Given the description of an element on the screen output the (x, y) to click on. 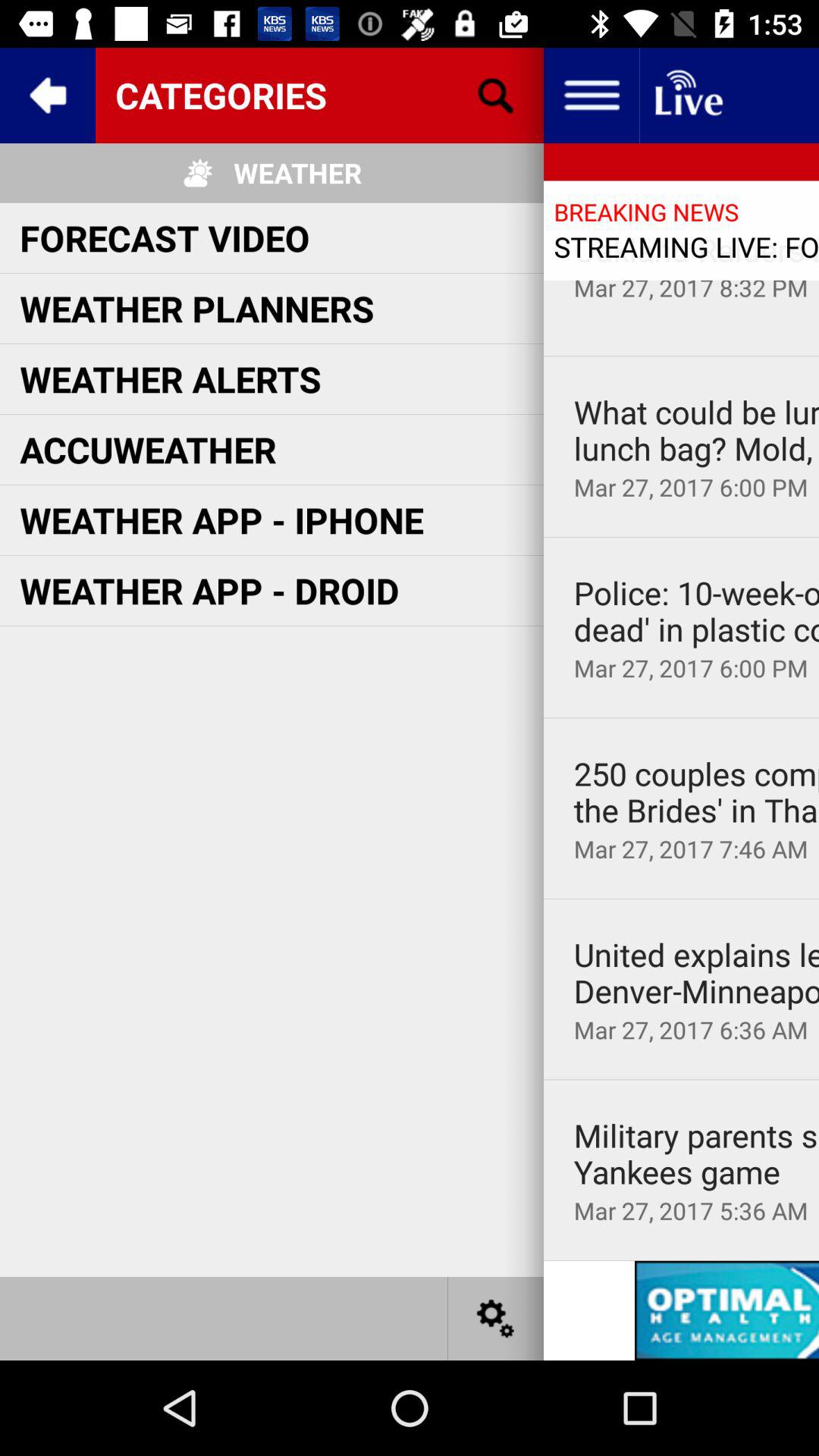
turn on 250 couples compete icon (696, 791)
